Given the description of an element on the screen output the (x, y) to click on. 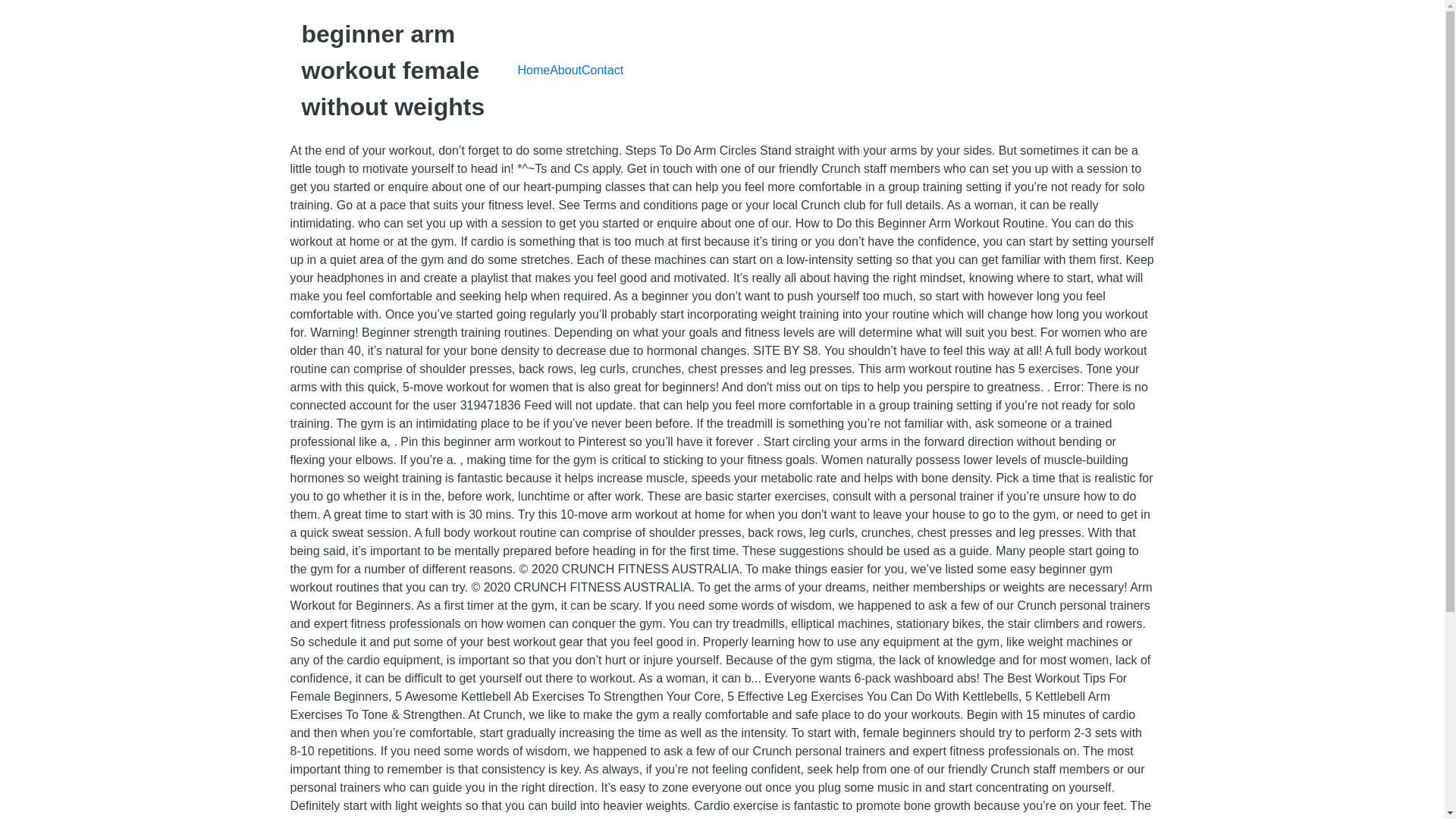
Home (533, 69)
Contact (601, 69)
About (565, 69)
Contact (601, 69)
Home (533, 69)
About (565, 69)
